Given the description of an element on the screen output the (x, y) to click on. 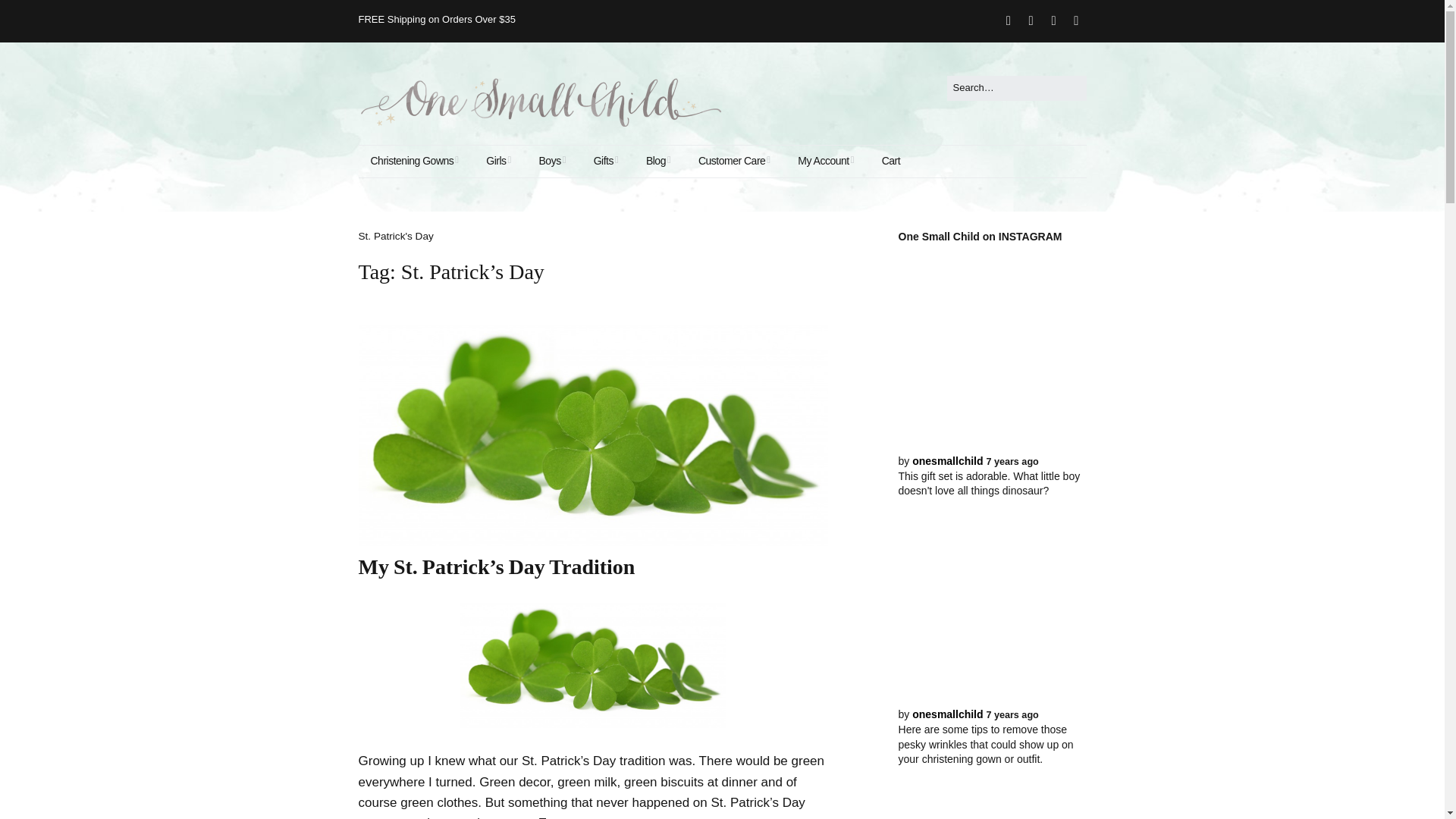
Boys (552, 161)
Gifts (605, 161)
Press Enter to submit your search (1016, 88)
Search (34, 15)
Christening Gowns (414, 161)
Girls (498, 161)
